Given the description of an element on the screen output the (x, y) to click on. 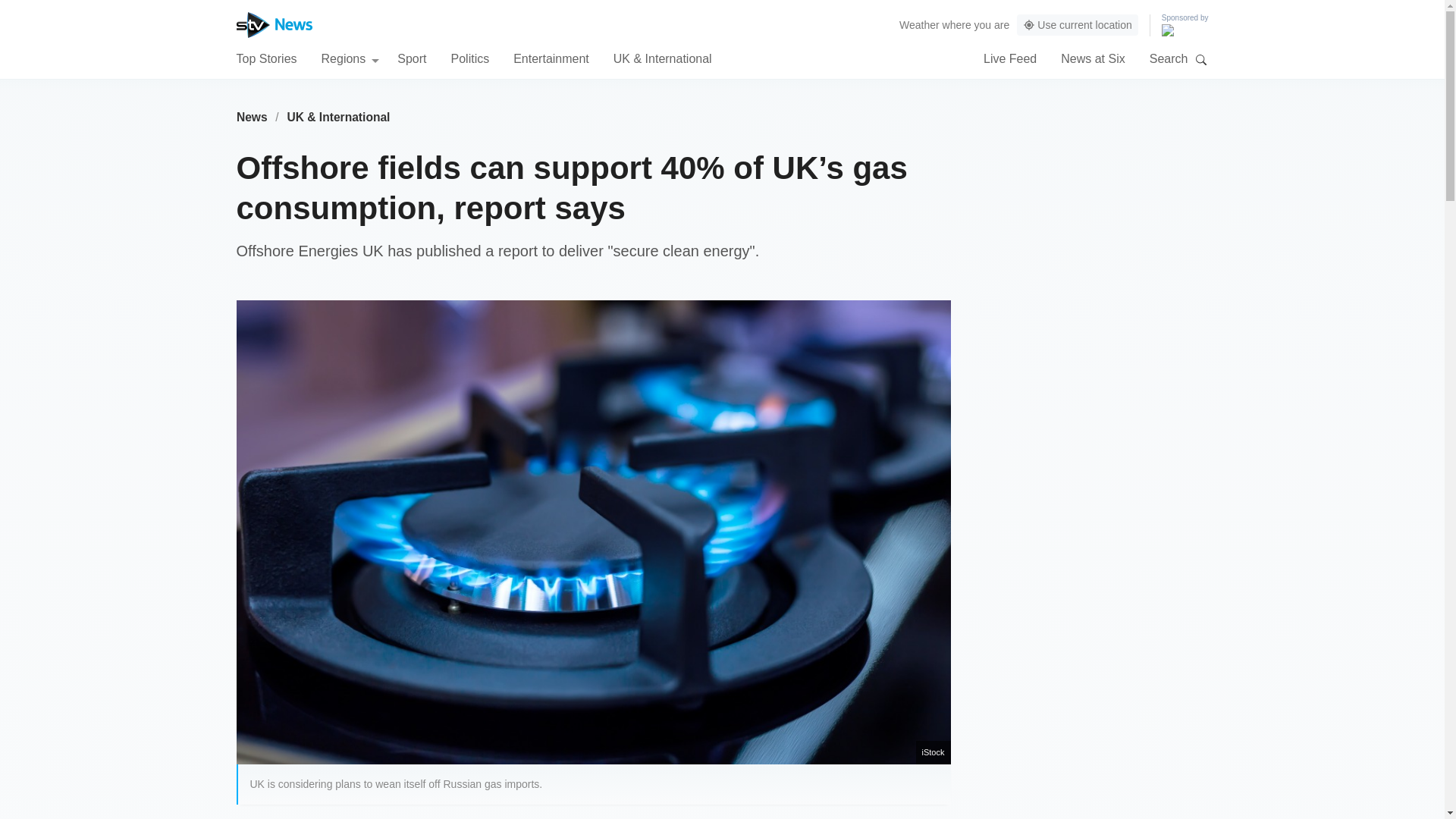
Top Stories (266, 57)
Use current location (1077, 25)
News at Six (1092, 57)
Search (1201, 59)
Regions (350, 57)
Politics (469, 57)
Sport (411, 57)
Weather (919, 24)
Live Feed (1010, 57)
Entertainment (551, 57)
News (252, 116)
